Given the description of an element on the screen output the (x, y) to click on. 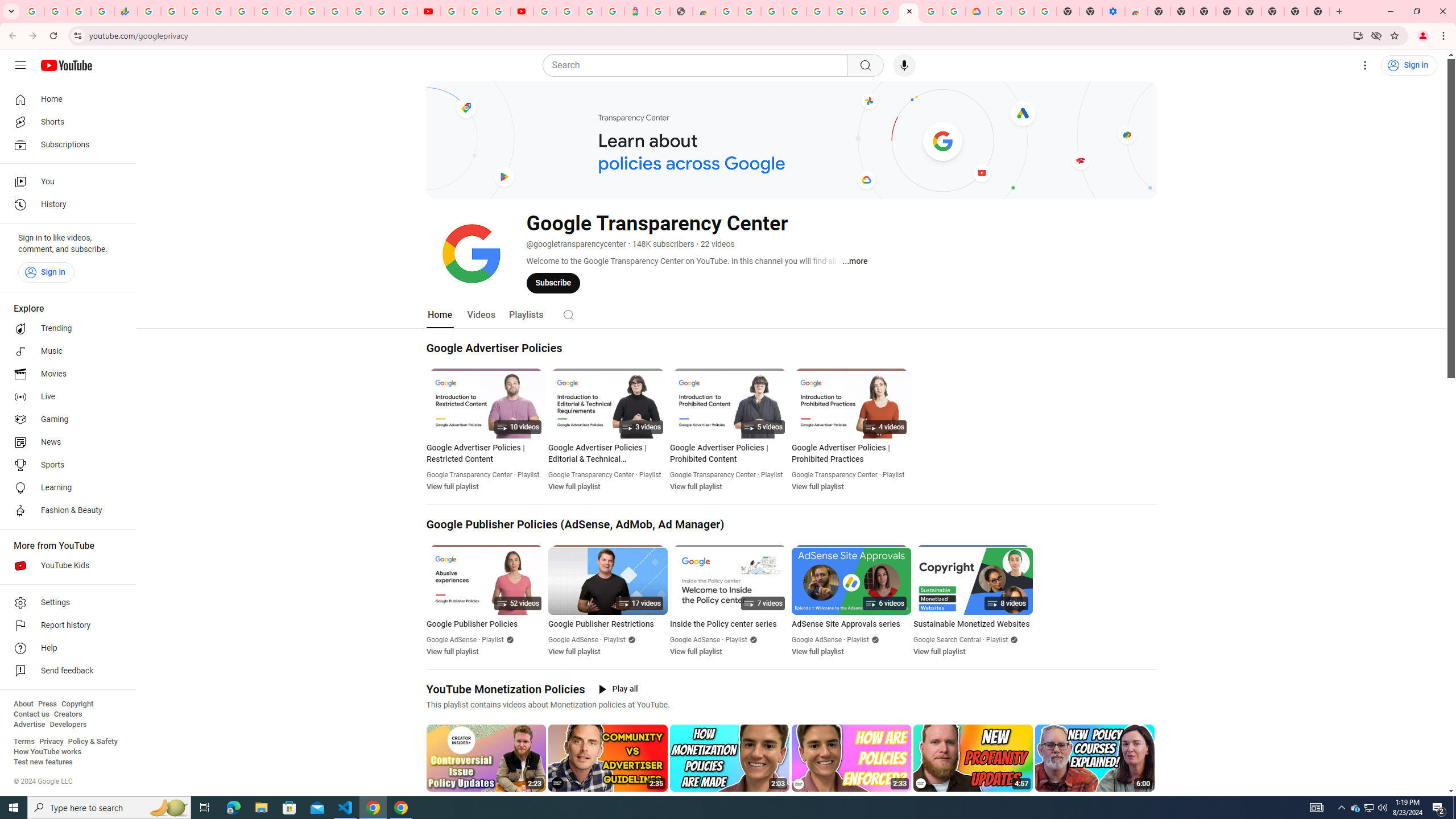
Google Advertiser Policies | Restricted Content (486, 453)
Contact us (31, 714)
Google Publisher Restrictions (607, 624)
Google Search Central (946, 639)
Send feedback (64, 671)
Sign in - Google Accounts (335, 11)
Trending (64, 328)
Sustainable Monetized Websites (972, 624)
Content Creator Programs & Opportunities - YouTube Creators (521, 11)
Privacy Checkup (405, 11)
Google Account Help (1022, 11)
Copyright (77, 703)
Shorts (64, 121)
Settings (1365, 65)
